Given the description of an element on the screen output the (x, y) to click on. 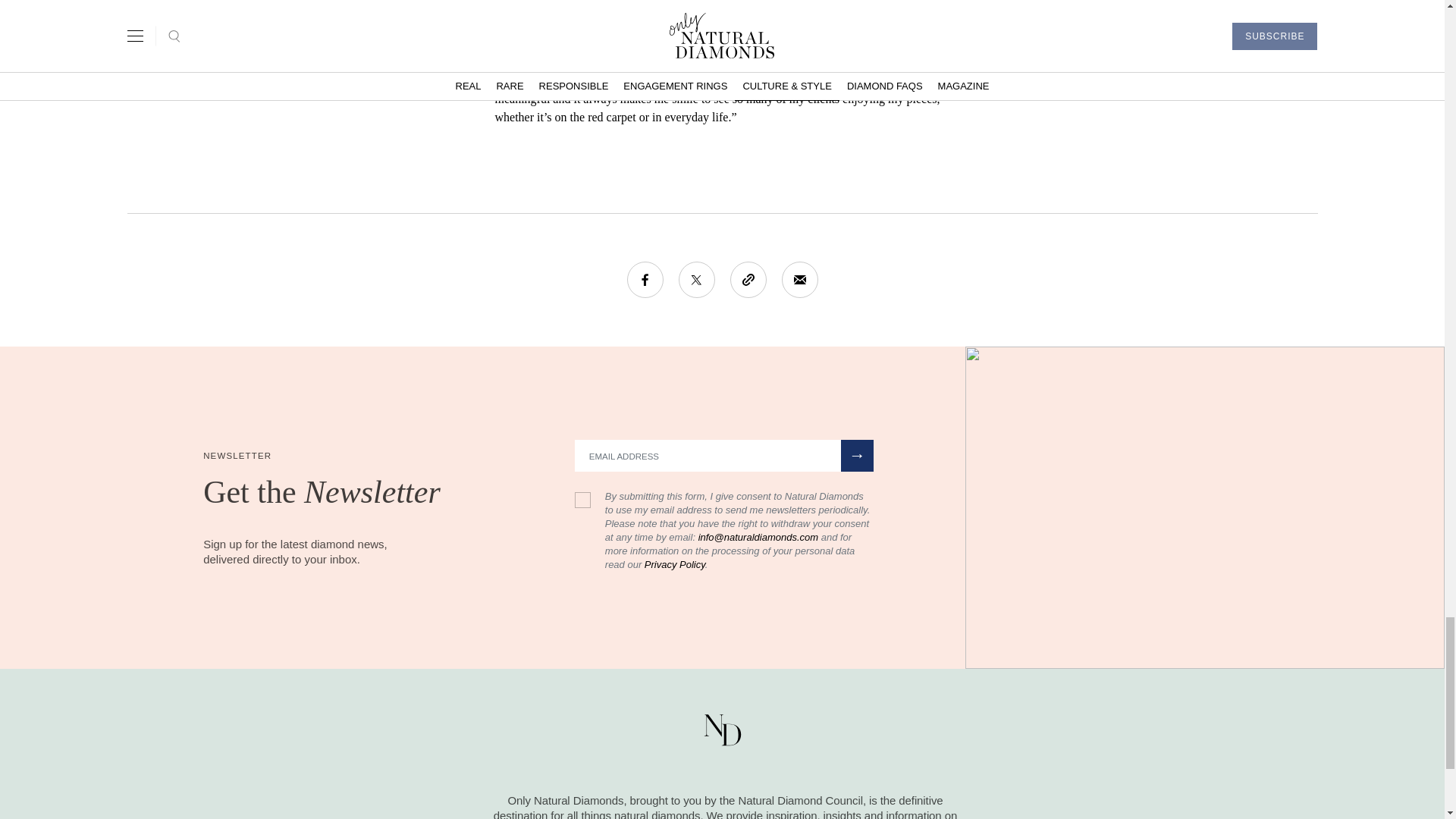
Email this page (798, 279)
Tweet This (696, 279)
Share on Facebook (644, 279)
Clipboard (747, 279)
